Given the description of an element on the screen output the (x, y) to click on. 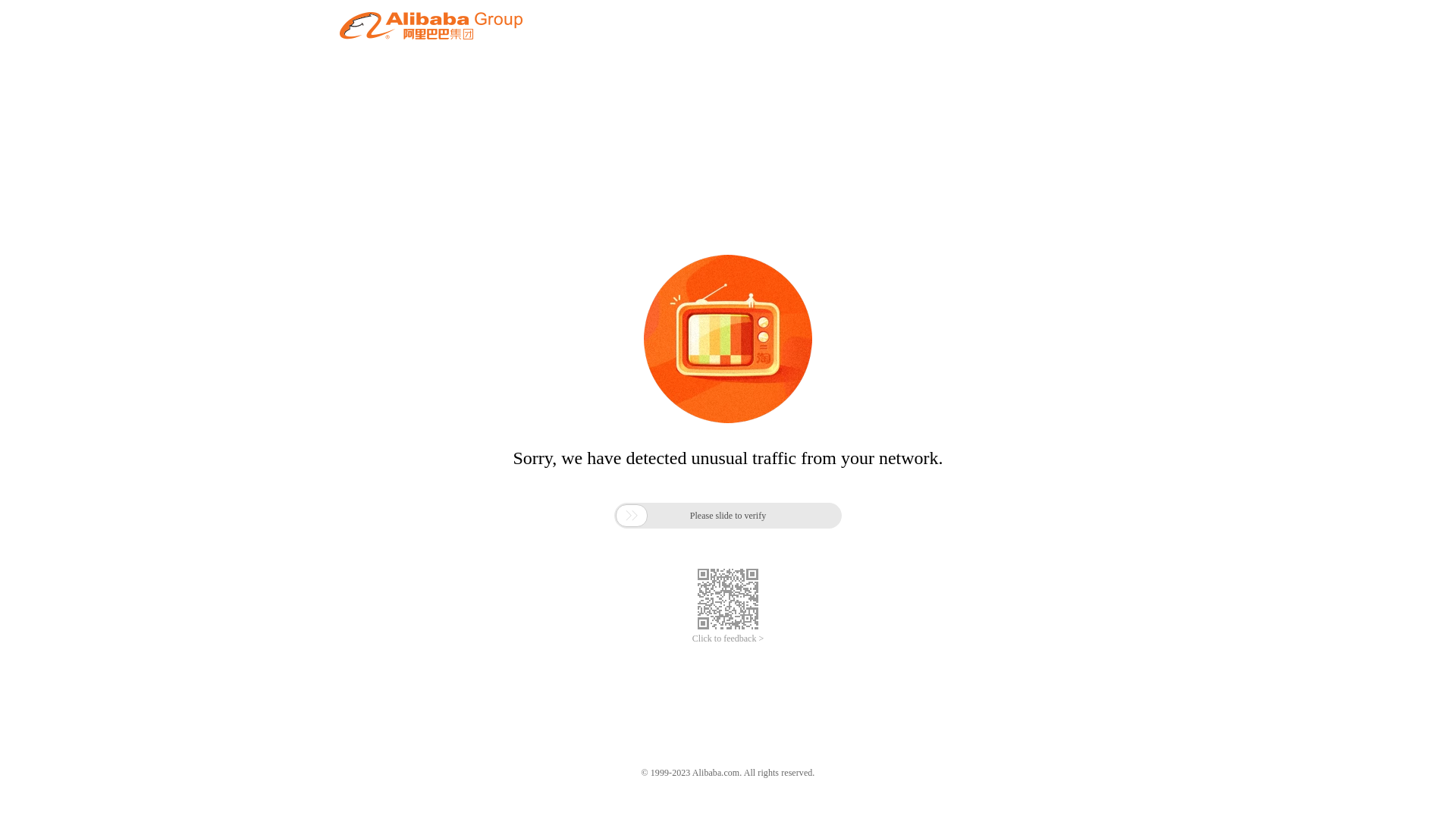
Click to feedback > Element type: text (727, 638)
